Given the description of an element on the screen output the (x, y) to click on. 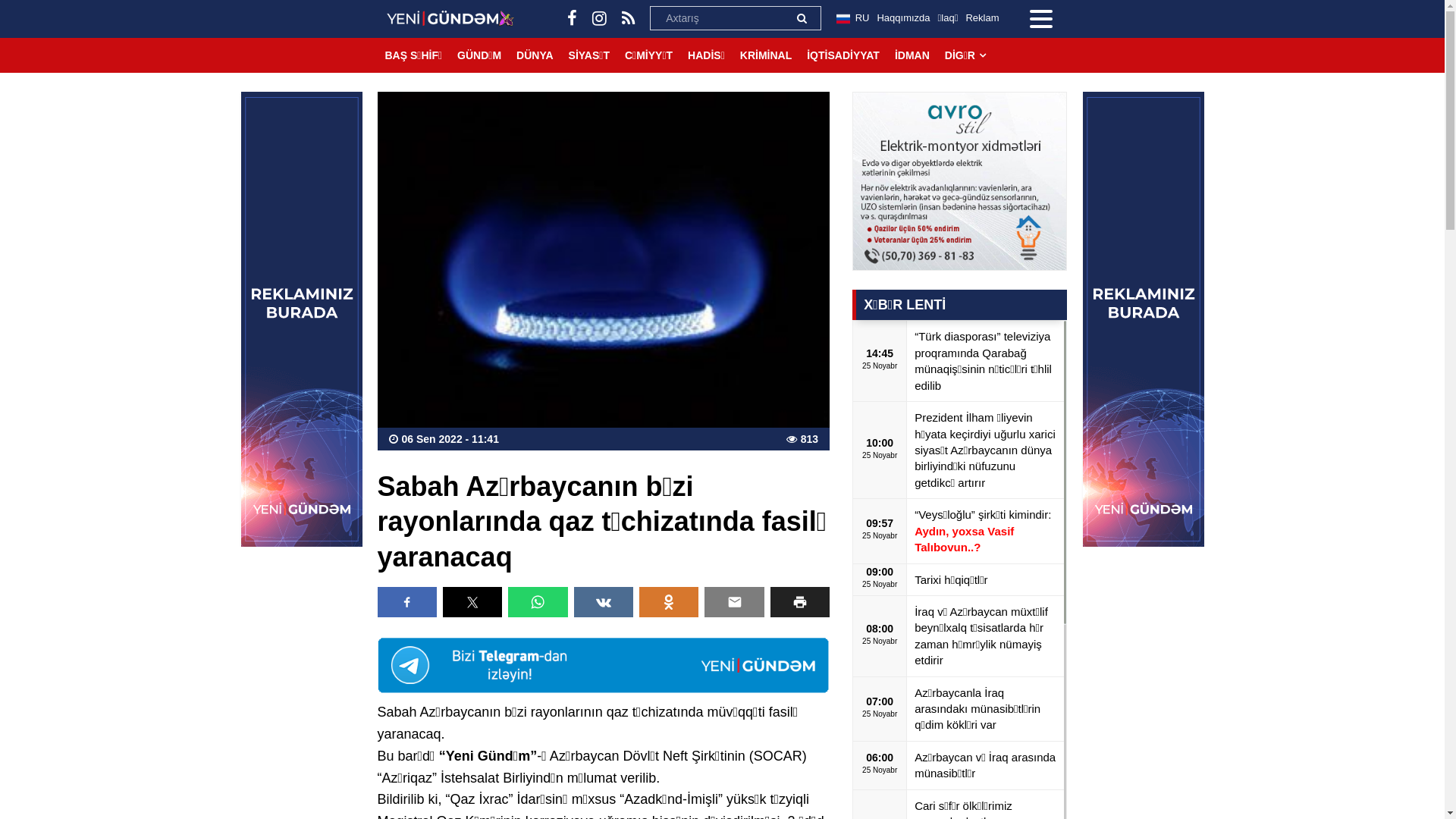
!160x600_sol Element type: hover (301, 318)
Reklam Element type: text (981, 17)
Open megamenu Element type: hover (1040, 18)
Kornonavirus Element type: hover (603, 664)
KRIMINAL Element type: text (765, 54)
RU Element type: text (852, 18)
